Given the description of an element on the screen output the (x, y) to click on. 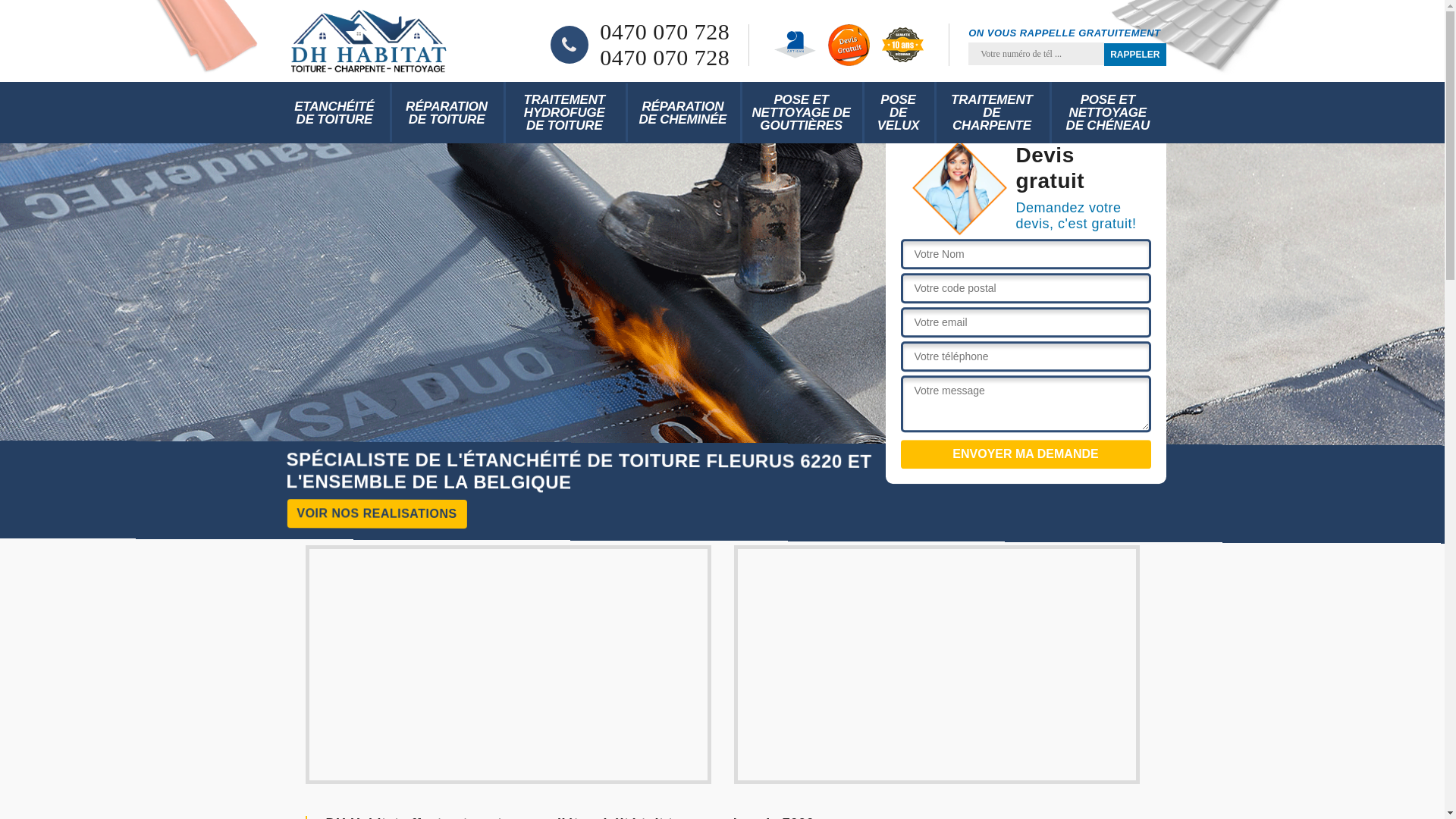
TRAITEMENT DE CHARPENTE Element type: text (991, 112)
Holderbaum David Element type: hover (368, 40)
RAPPELER Element type: text (1134, 54)
0470 070 728 Element type: text (664, 57)
0470 070 728 Element type: text (664, 31)
TRAITEMENT HYDROFUGE DE TOITURE Element type: text (564, 112)
POSE DE VELUX Element type: text (897, 112)
Envoyer ma demande Element type: text (1025, 453)
VOIR NOS REALISATIONS Element type: text (376, 512)
